Given the description of an element on the screen output the (x, y) to click on. 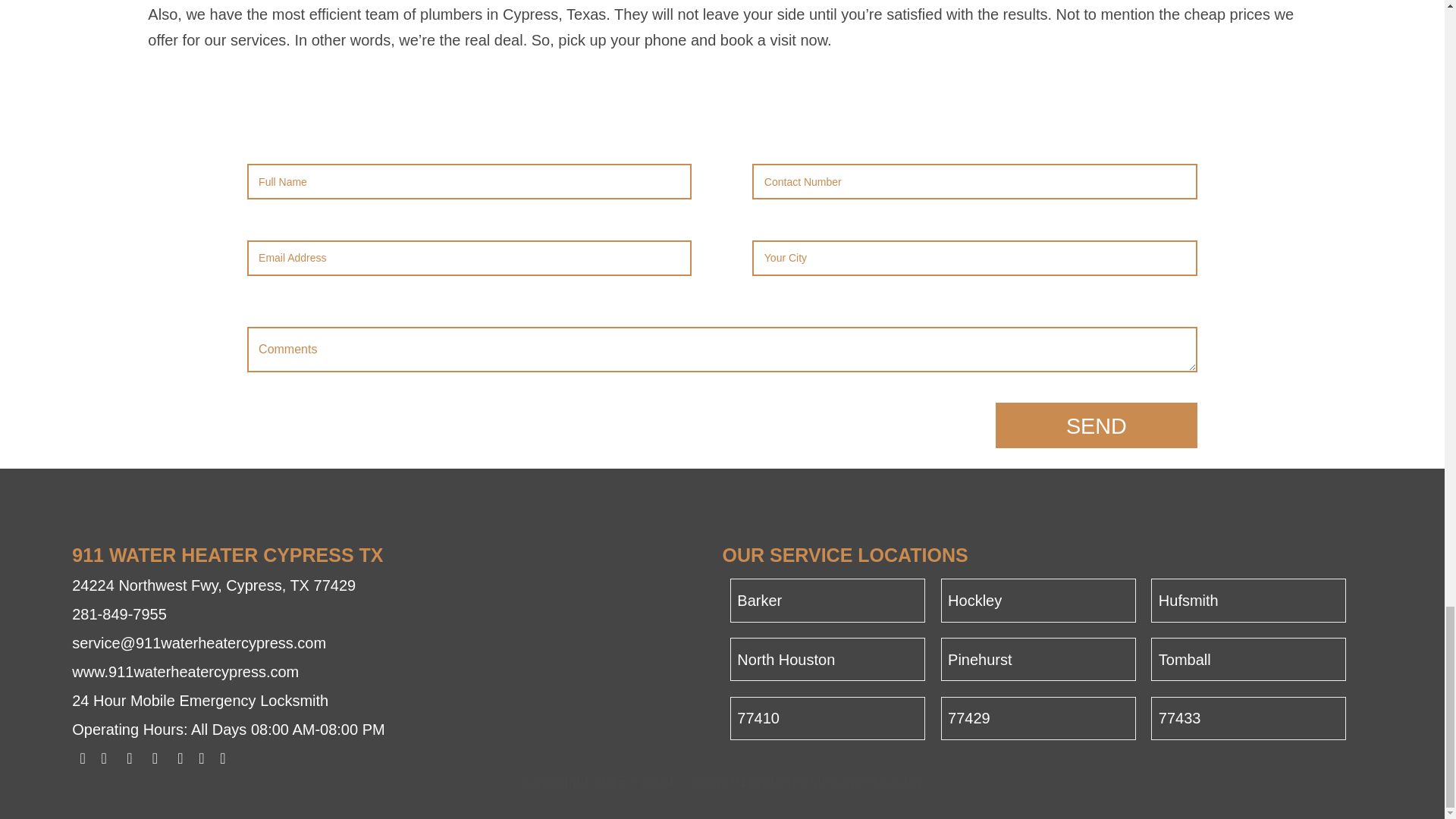
SEND (1096, 424)
281-849-7955 (119, 614)
www.911waterheatercypress.com (184, 671)
